Given the description of an element on the screen output the (x, y) to click on. 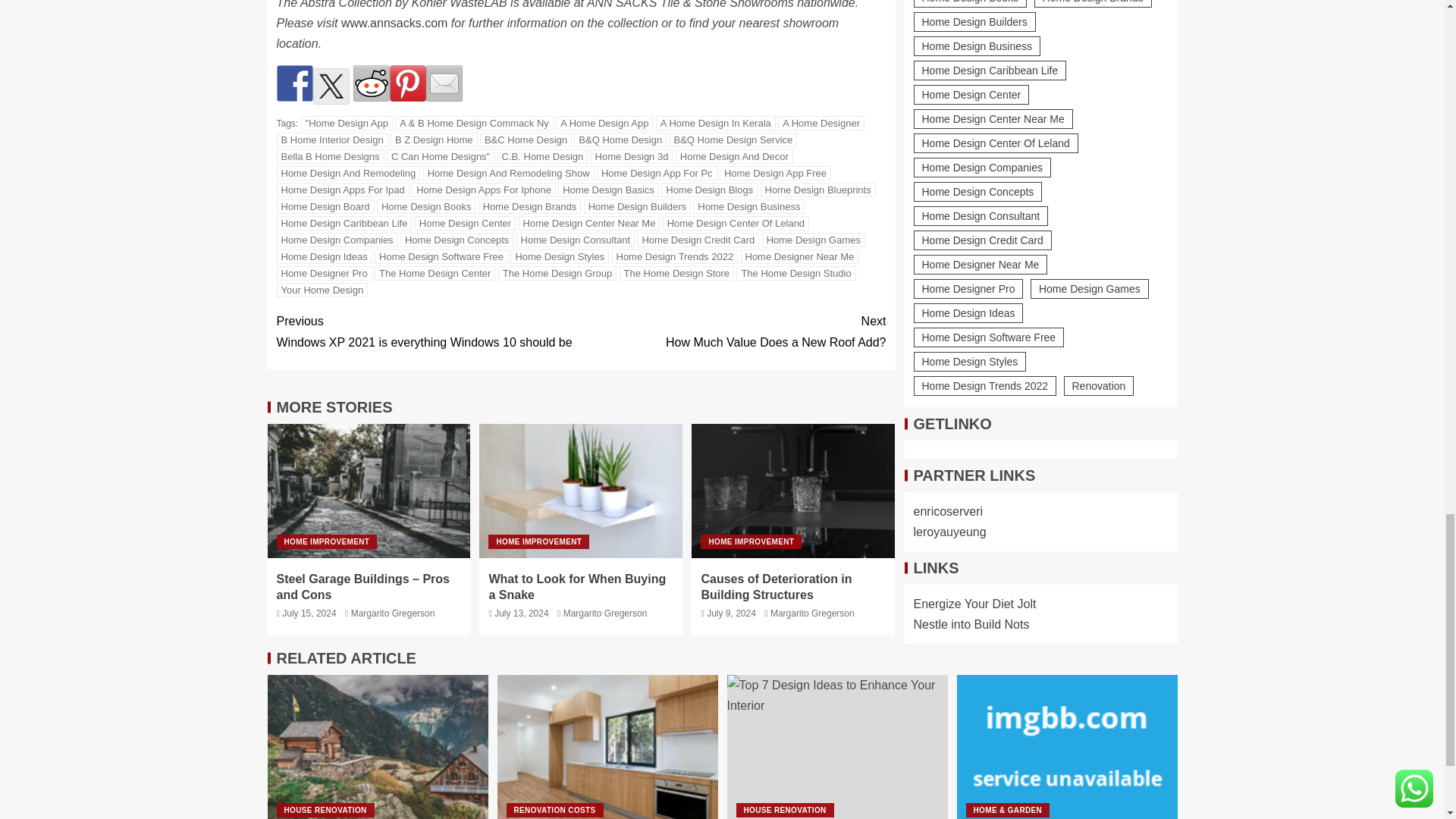
Share on Facebook (294, 83)
A Home Design In Kerala (716, 123)
Pin it with Pinterest (408, 83)
What to Look for When Buying a Snake (580, 490)
Bella B Home Designs (330, 156)
"Home Design App (347, 123)
Share on Reddit (371, 83)
www.annsacks.com (394, 22)
B Home Interior Design (331, 139)
Causes of Deterioration in Building Structures (793, 490)
A Home Design App (604, 123)
Share by email (444, 83)
Share on Twitter (331, 85)
B Z Design Home (433, 139)
A Home Designer (820, 123)
